Given the description of an element on the screen output the (x, y) to click on. 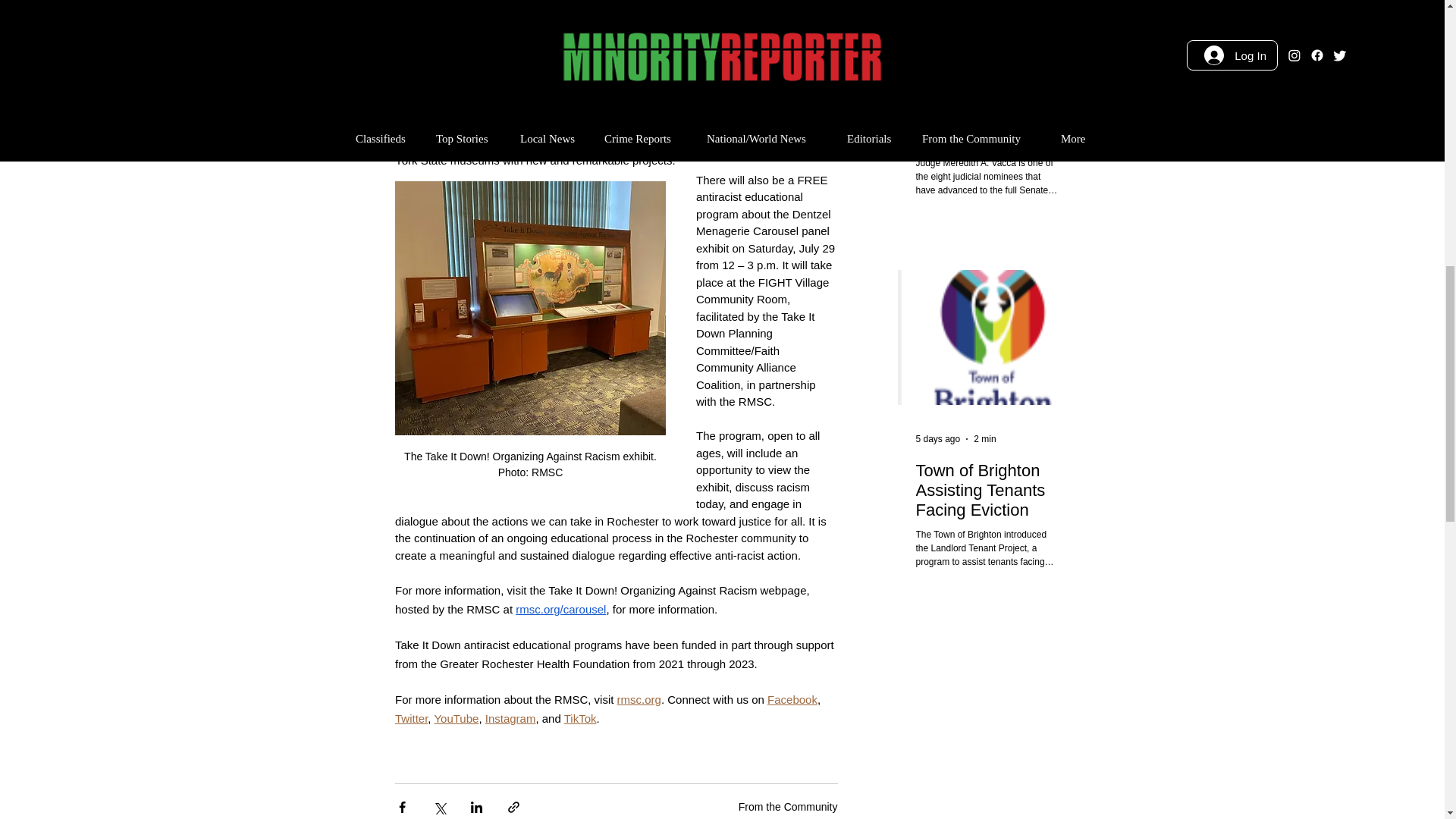
TikTok (579, 717)
rmsc.org (638, 698)
YouTube (456, 717)
4 days ago (937, 67)
Facebook (791, 698)
2 min (984, 67)
Twitter (410, 717)
5 days ago (937, 439)
Instagram (509, 717)
2 min (984, 439)
